Given the description of an element on the screen output the (x, y) to click on. 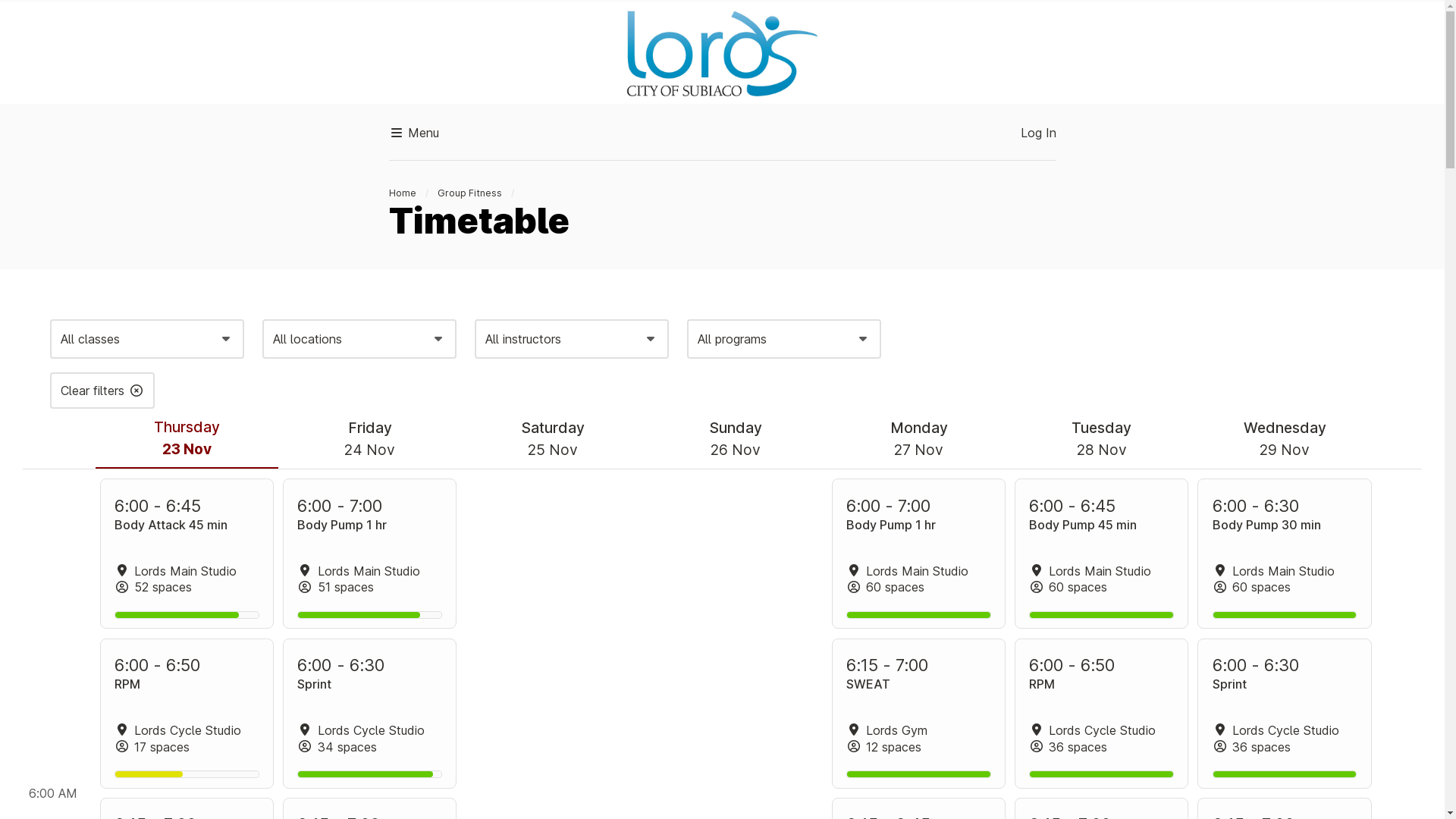
All locations Element type: text (359, 338)
Sprint
6:00
-
6:30
Lords Cycle Studio
34 spaces Element type: text (369, 713)
Menu Element type: text (413, 132)
All programs Element type: text (784, 338)
100% Element type: hover (918, 614)
RPM
6:00
-
6:50
Lords Cycle Studio
17 spaces Element type: text (186, 713)
100% Element type: hover (1101, 774)
Clear filters Element type: text (102, 390)
Body Attack 45 min
6:00
-
6:45
Lords Main Studio
52 spaces Element type: text (186, 553)
85% Element type: hover (369, 614)
100% Element type: hover (1284, 614)
Body Pump 1 hr
6:00
-
7:00
Lords Main Studio
60 spaces Element type: text (918, 553)
Home Element type: text (401, 192)
Body Pump 45 min
6:00
-
6:45
Lords Main Studio
60 spaces Element type: text (1101, 553)
94% Element type: hover (369, 774)
100% Element type: hover (918, 774)
All classes Element type: text (147, 338)
RPM
6:00
-
6:50
Lords Cycle Studio
36 spaces Element type: text (1101, 713)
All instructors Element type: text (571, 338)
100% Element type: hover (1284, 774)
Body Pump 1 hr
6:00
-
7:00
Lords Main Studio
51 spaces Element type: text (369, 553)
100% Element type: hover (1101, 614)
47% Element type: hover (186, 774)
Log In Element type: text (1038, 132)
Body Pump 30 min
6:00
-
6:30
Lords Main Studio
60 spaces Element type: text (1284, 553)
Sprint
6:00
-
6:30
Lords Cycle Studio
36 spaces Element type: text (1284, 713)
Group Fitness Element type: text (469, 192)
SWEAT
6:15
-
7:00
Lords Gym
12 spaces Element type: text (918, 713)
86% Element type: hover (186, 614)
